Given the description of an element on the screen output the (x, y) to click on. 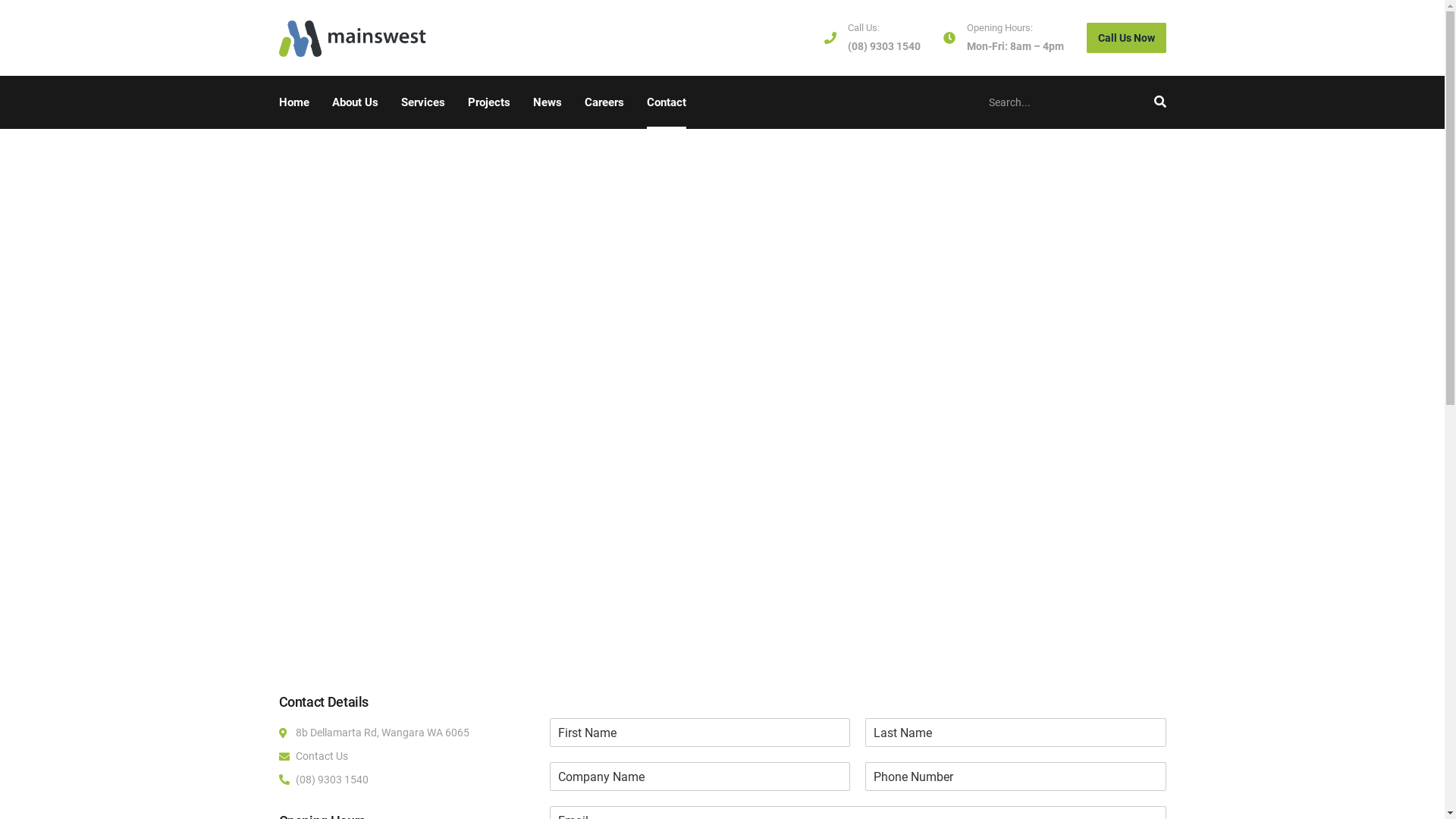
Mainswest Element type: hover (352, 37)
Call Us Now Element type: text (1125, 37)
Contact Element type: text (666, 101)
Contact Us Element type: text (406, 756)
Services Element type: text (422, 101)
(08) 9303 1540 Element type: text (406, 779)
Careers Element type: text (604, 101)
Home Element type: text (293, 101)
Projects Element type: text (488, 101)
(08) 9303 1540 Element type: text (883, 46)
About Us Element type: text (354, 101)
News Element type: text (547, 101)
8b (rear) Dellamarta Road, Wangara WA 6065 Element type: hover (722, 363)
